Given the description of an element on the screen output the (x, y) to click on. 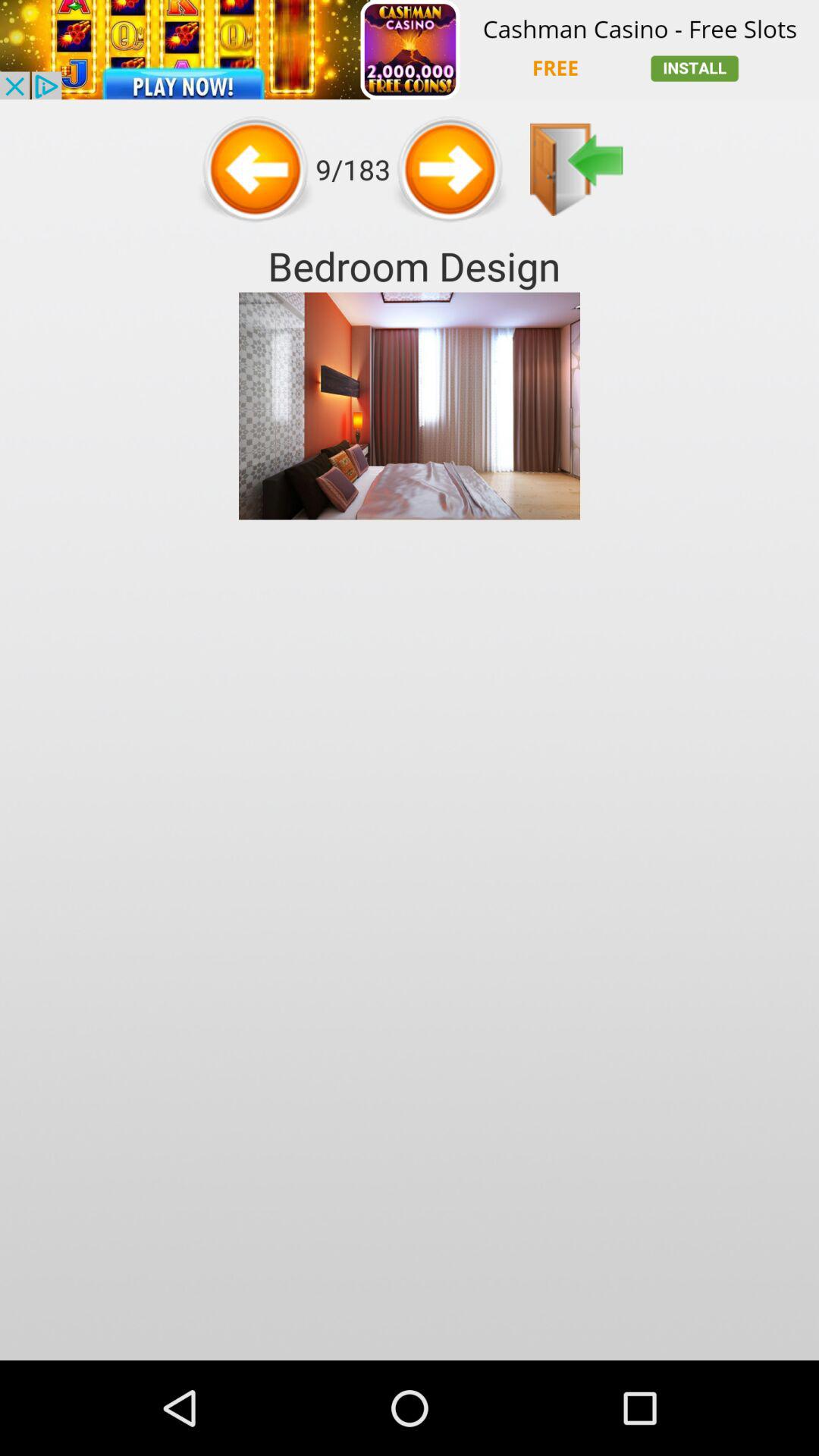
open advertisement (409, 49)
